Given the description of an element on the screen output the (x, y) to click on. 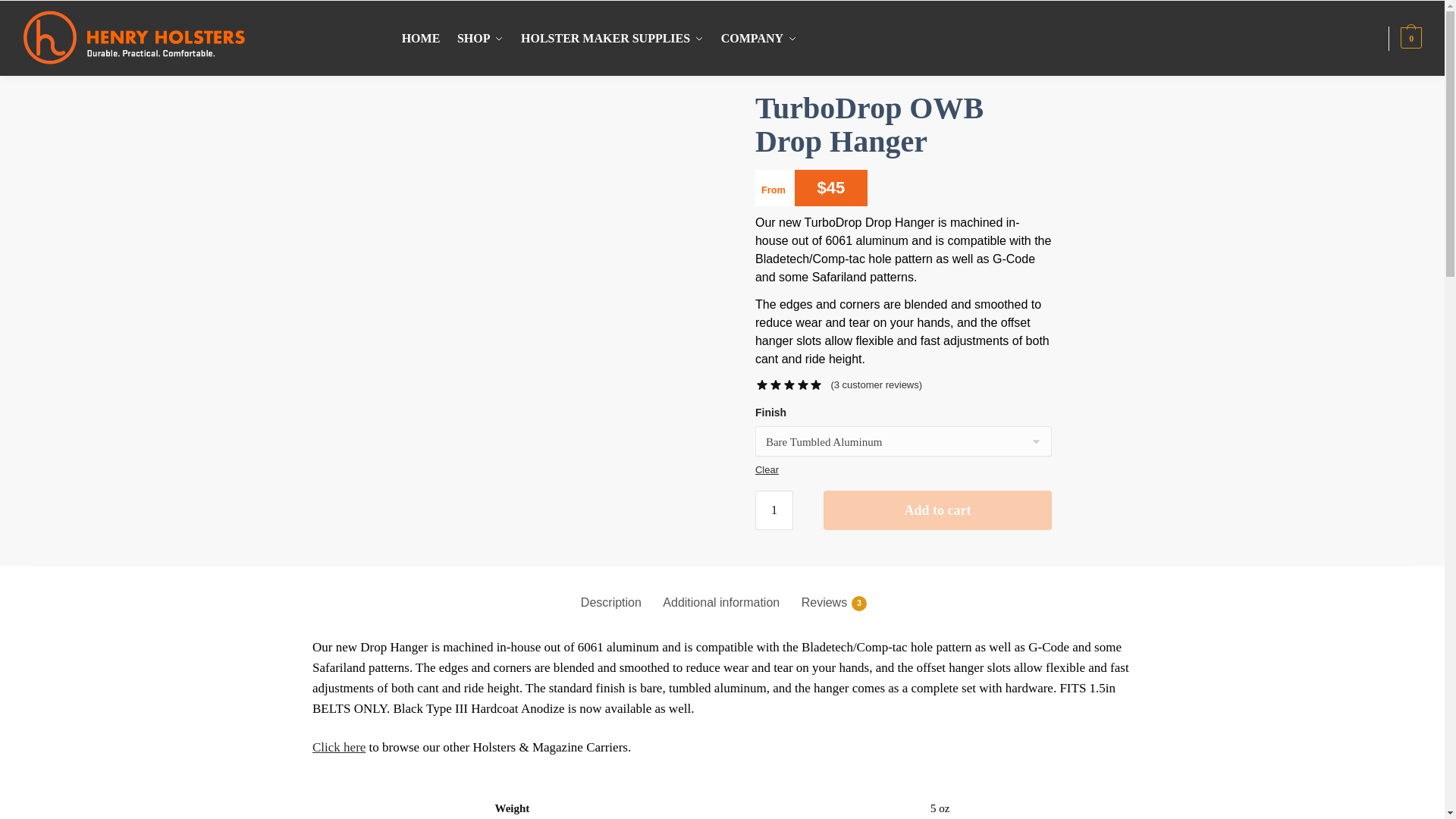
1 (774, 509)
